Given the description of an element on the screen output the (x, y) to click on. 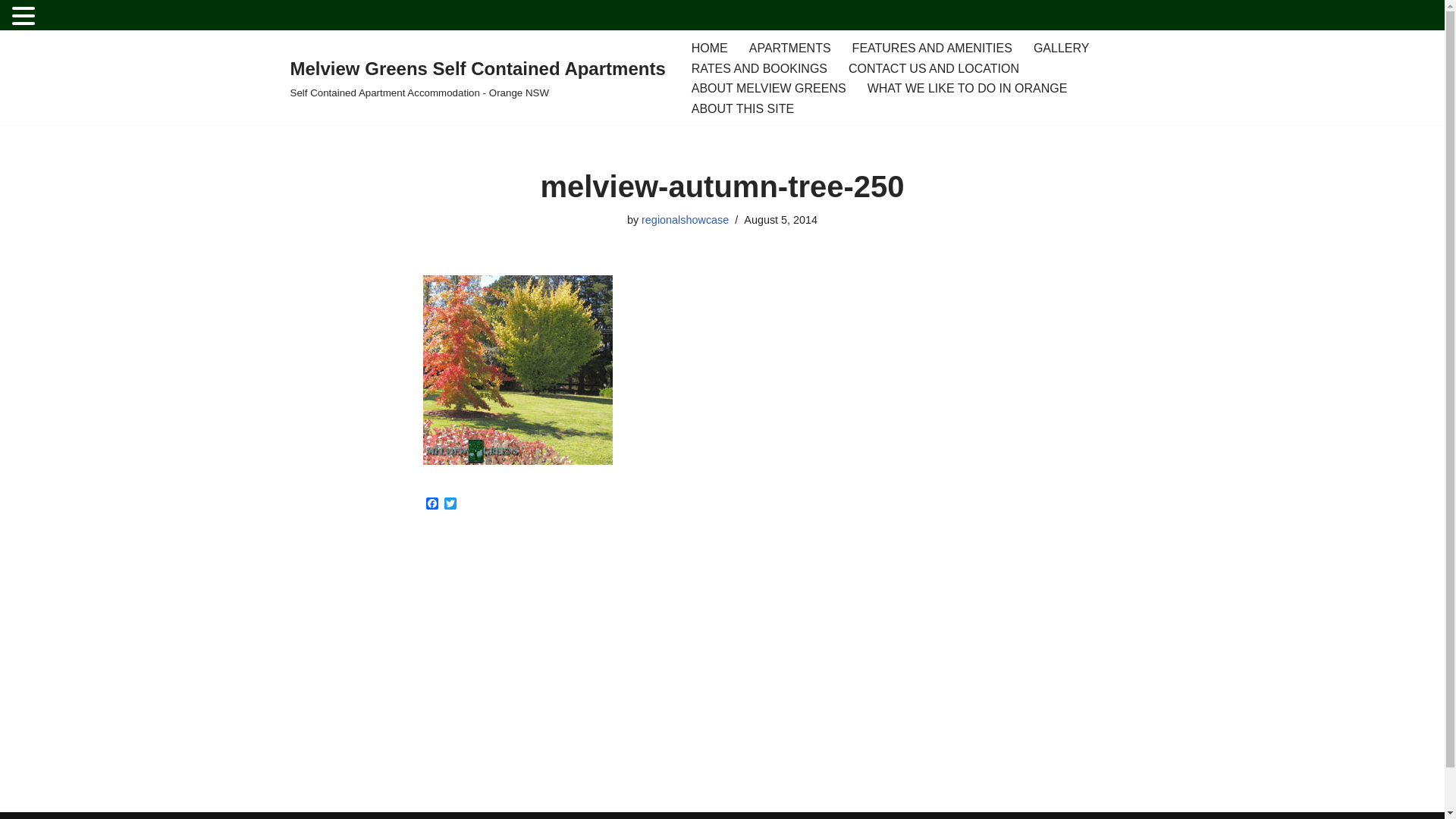
ABOUT THIS SITE Element type: text (742, 108)
CONTACT US AND LOCATION Element type: text (933, 68)
ABOUT MELVIEW GREENS Element type: text (768, 88)
GALLERY Element type: text (1061, 47)
FEATURES AND AMENITIES Element type: text (932, 47)
APARTMENTS Element type: text (790, 47)
Skip to content Element type: text (11, 63)
Facebook Element type: text (432, 504)
WHAT WE LIKE TO DO IN ORANGE Element type: text (967, 88)
HOME Element type: text (709, 47)
Twitter Element type: text (450, 504)
regionalshowcase Element type: text (684, 219)
RATES AND BOOKINGS Element type: text (759, 68)
